Given the description of an element on the screen output the (x, y) to click on. 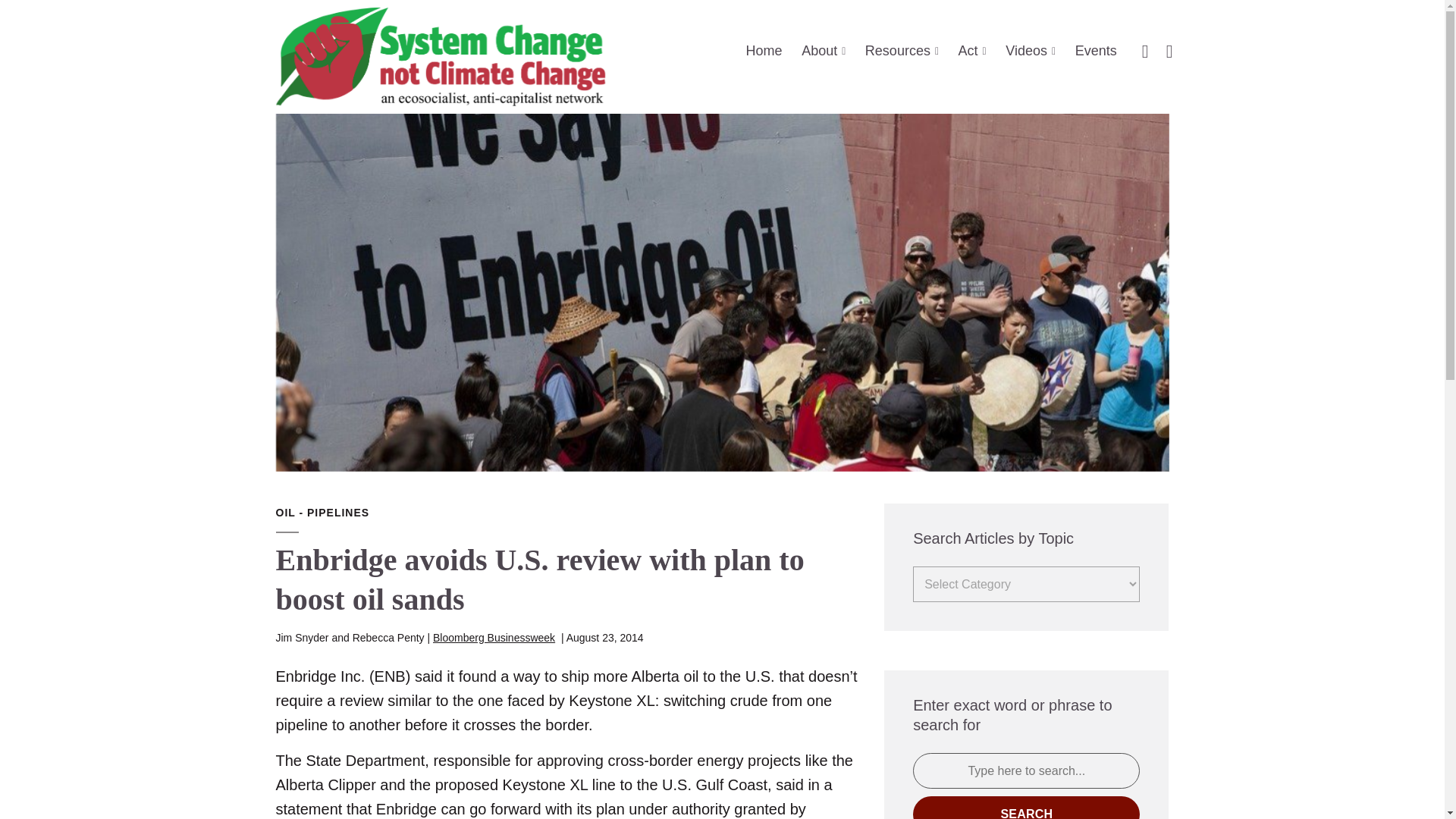
Videos (1030, 51)
About (823, 51)
Act (972, 51)
Resources (901, 51)
Events (1095, 51)
Home (764, 51)
